Given the description of an element on the screen output the (x, y) to click on. 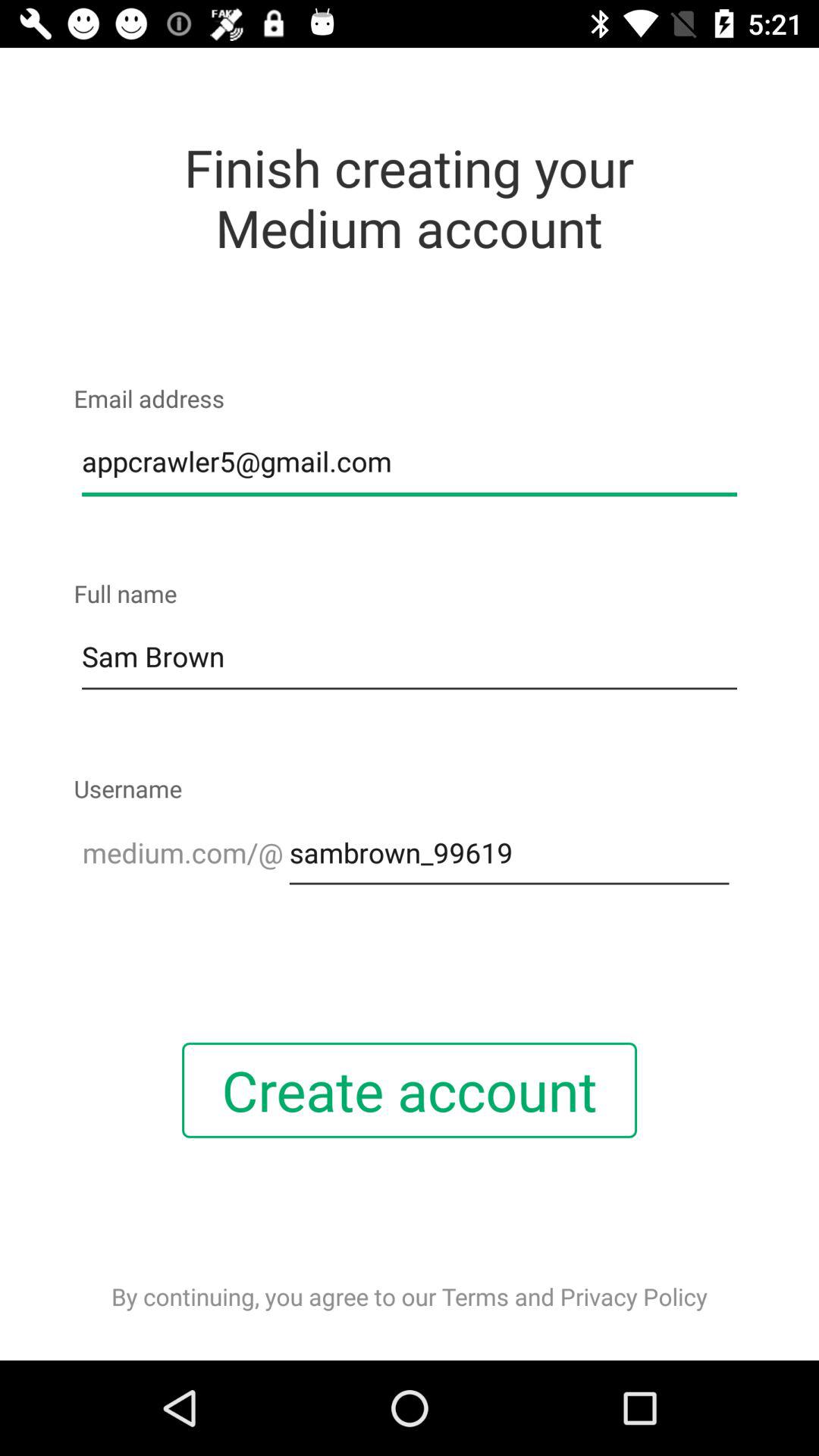
select item below the full name icon (409, 657)
